Given the description of an element on the screen output the (x, y) to click on. 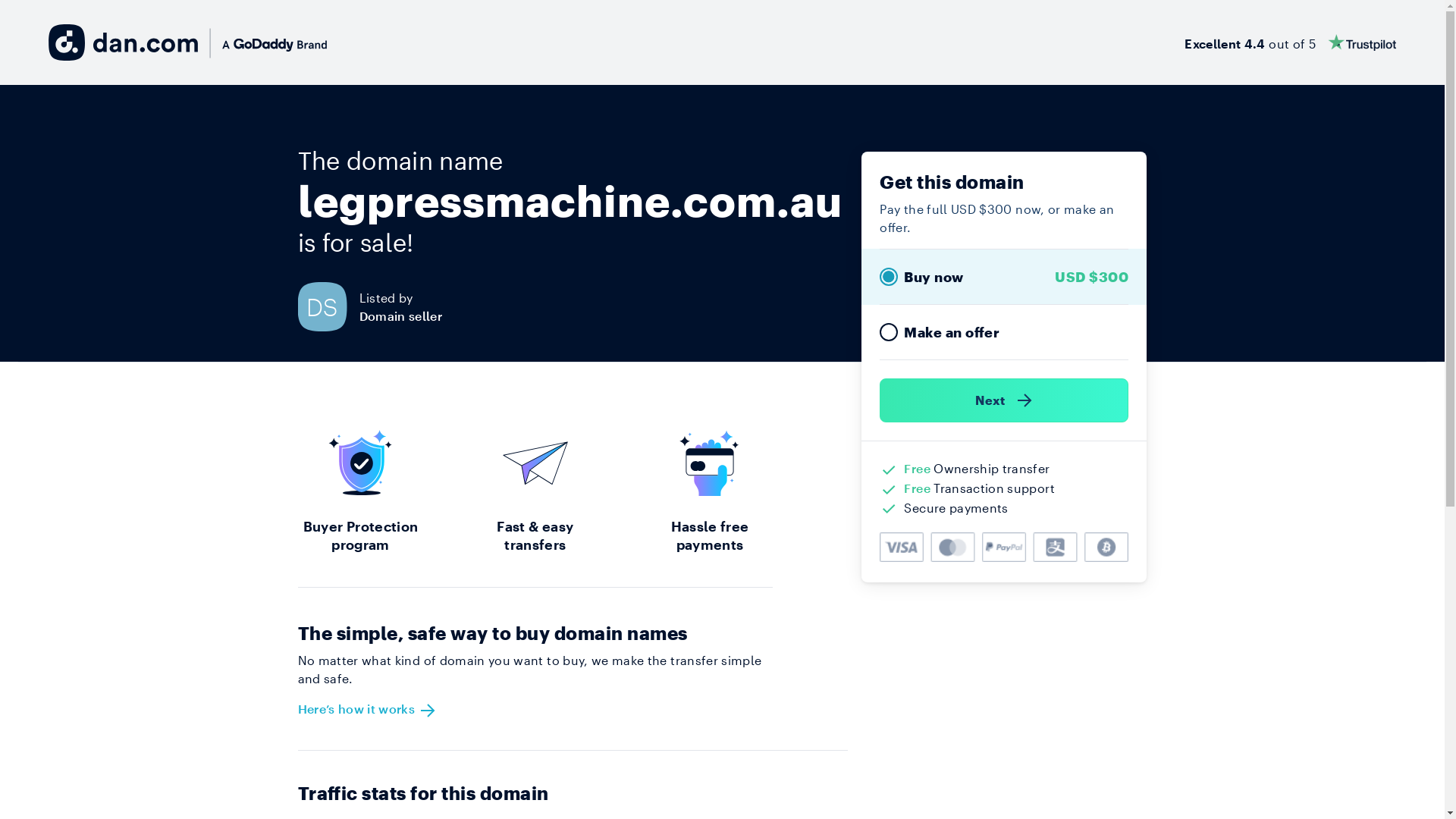
Excellent 4.4 out of 5 Element type: text (1290, 42)
Next
) Element type: text (1003, 400)
